Given the description of an element on the screen output the (x, y) to click on. 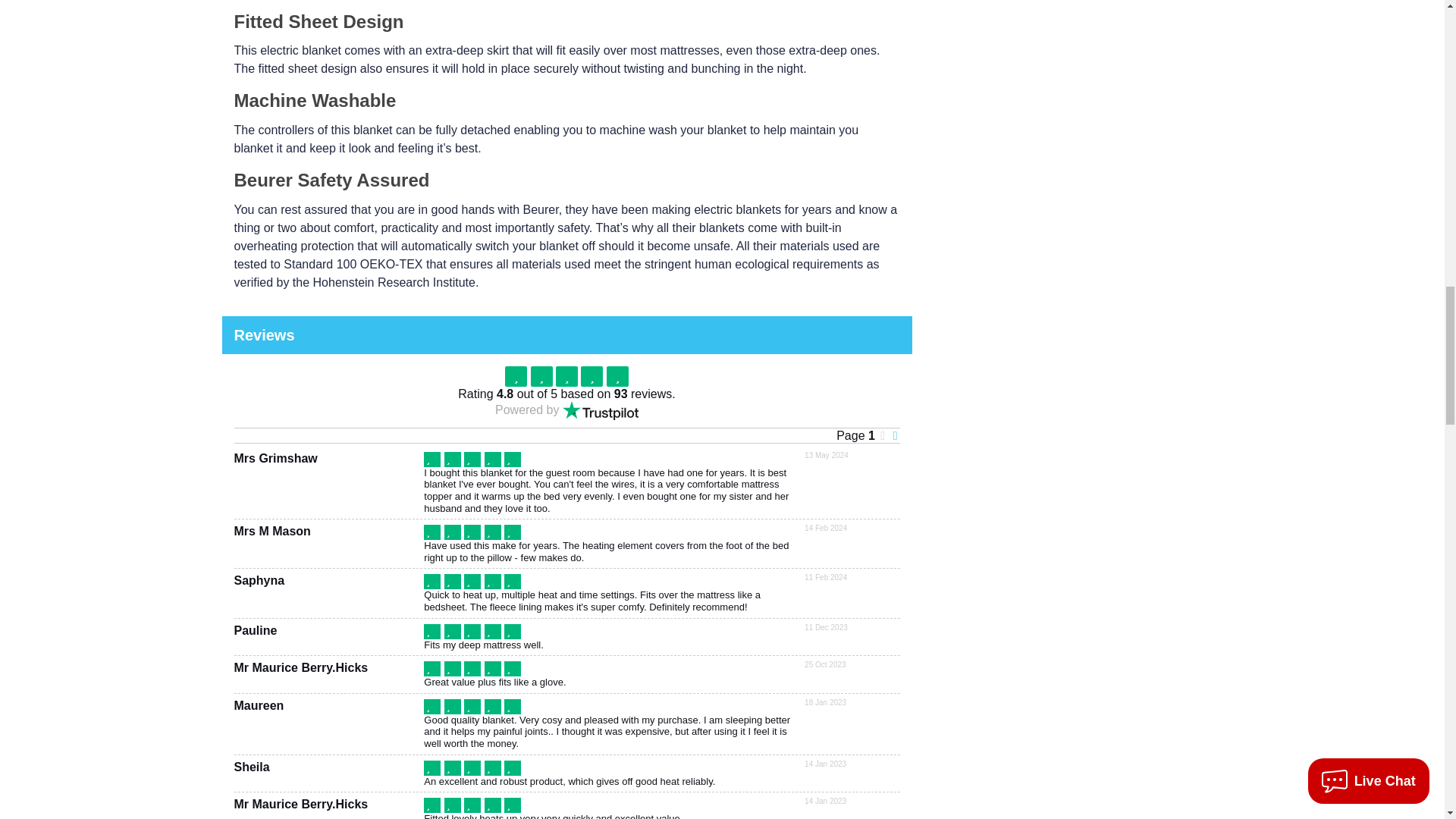
Trustpilot (600, 410)
